Given the description of an element on the screen output the (x, y) to click on. 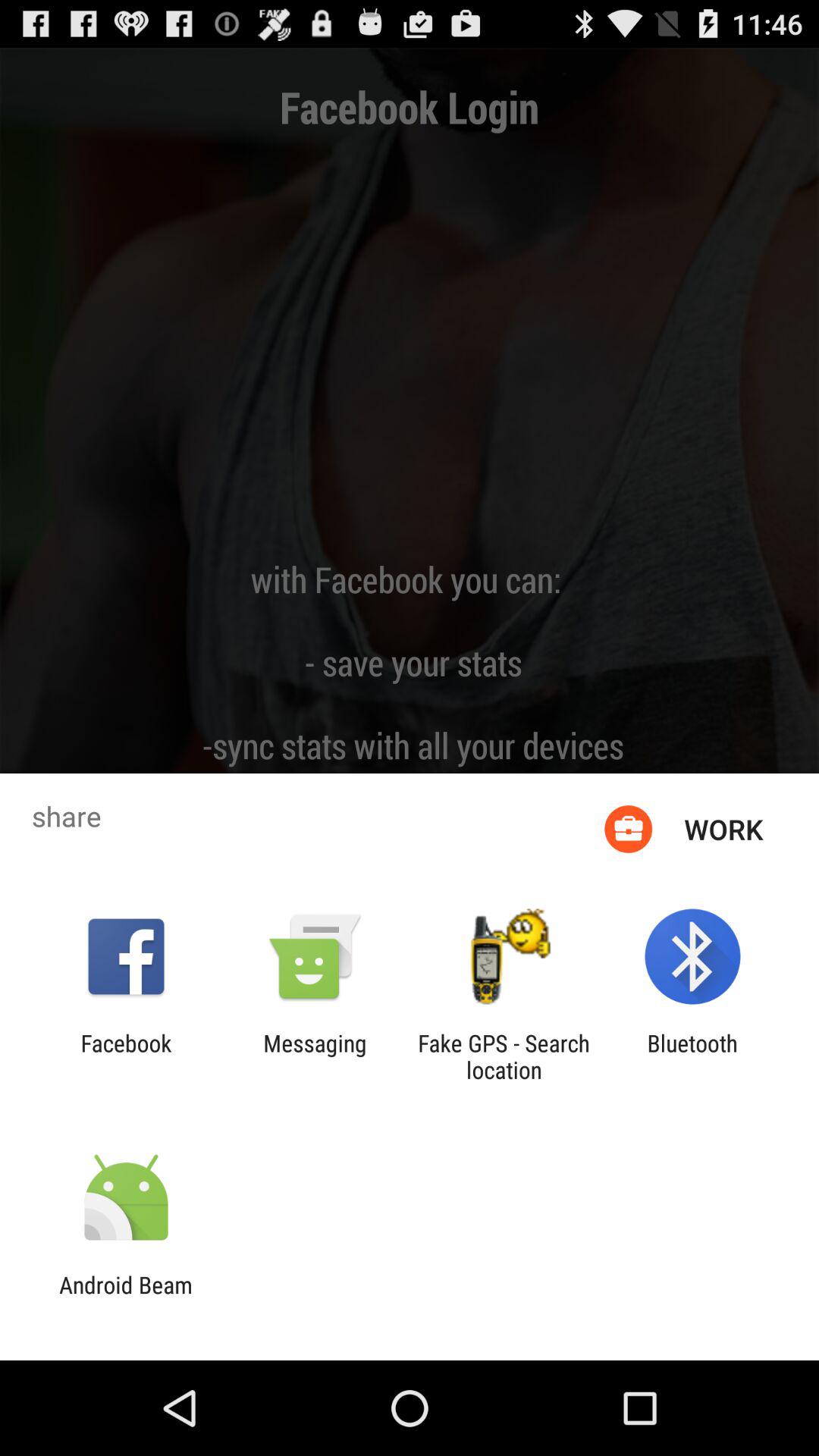
choose messaging item (314, 1056)
